Given the description of an element on the screen output the (x, y) to click on. 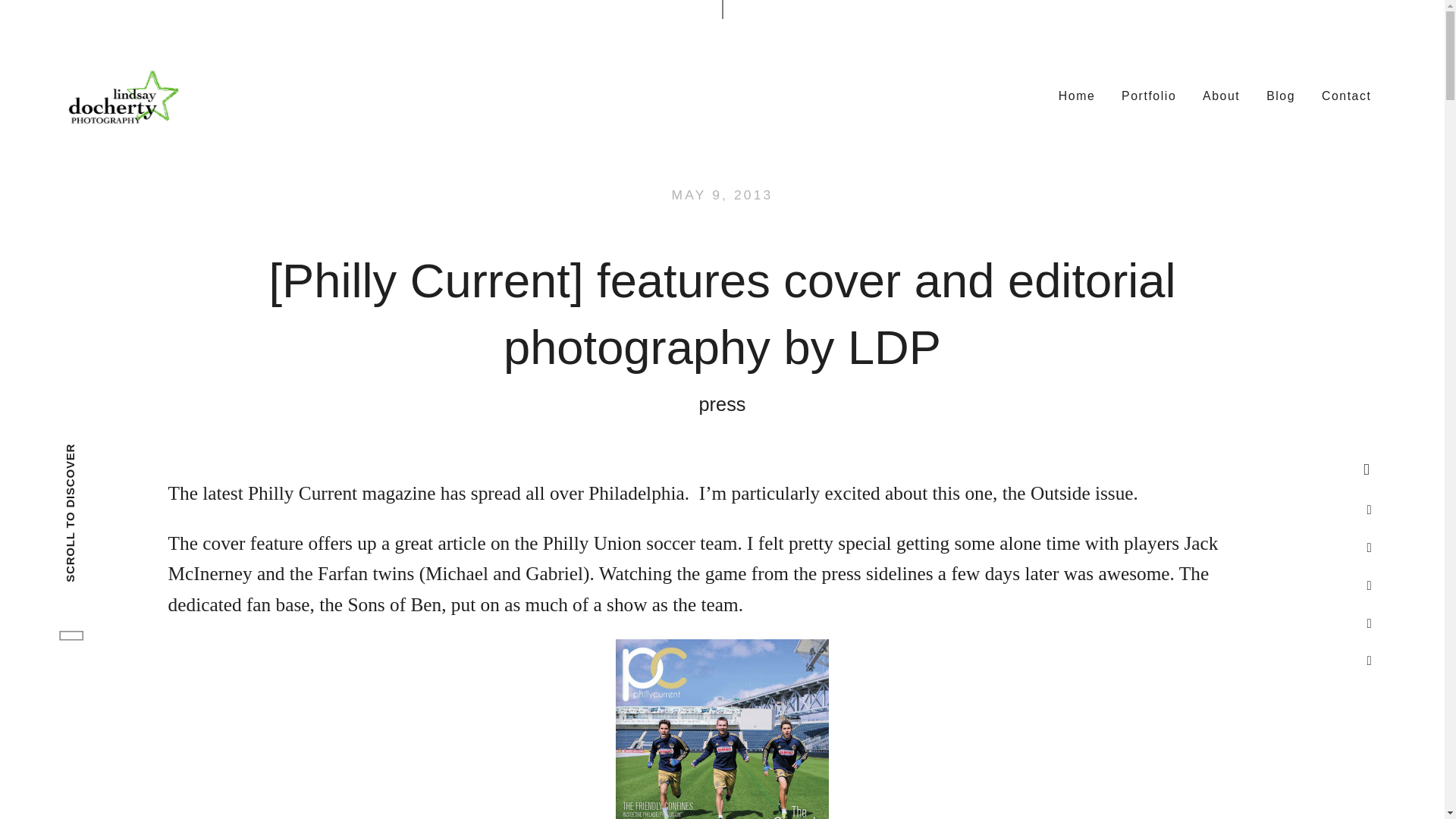
SCROLL TO DISCOVER (152, 470)
Philly Current magazine (341, 492)
Portfolio (1149, 94)
Home (1076, 94)
About (1221, 94)
press (721, 404)
SCROLL TO DISCOVER (132, 452)
Contact (1346, 94)
Blog (1281, 94)
